Given the description of an element on the screen output the (x, y) to click on. 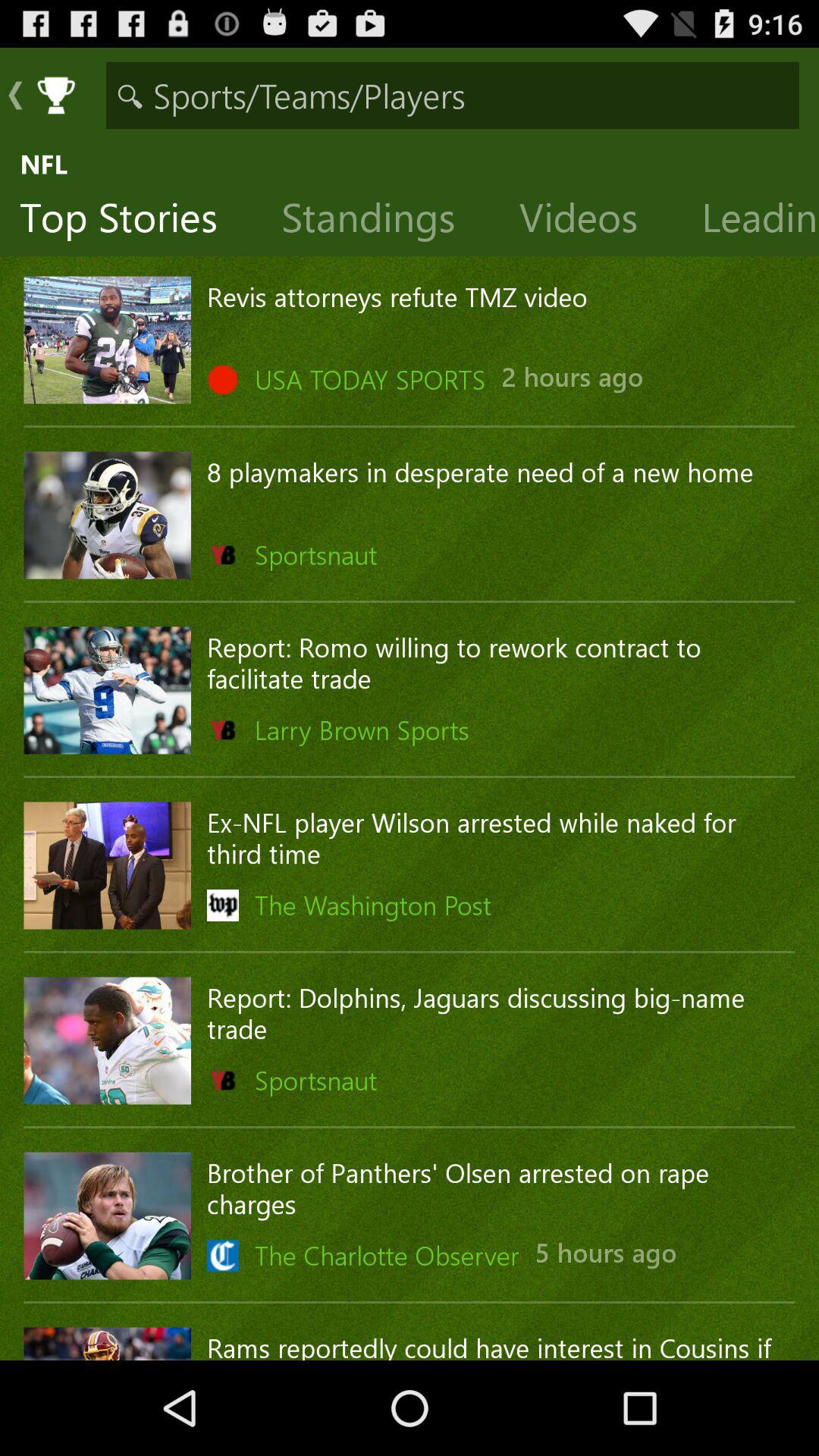
turn off the icon below the nfl (380, 220)
